Given the description of an element on the screen output the (x, y) to click on. 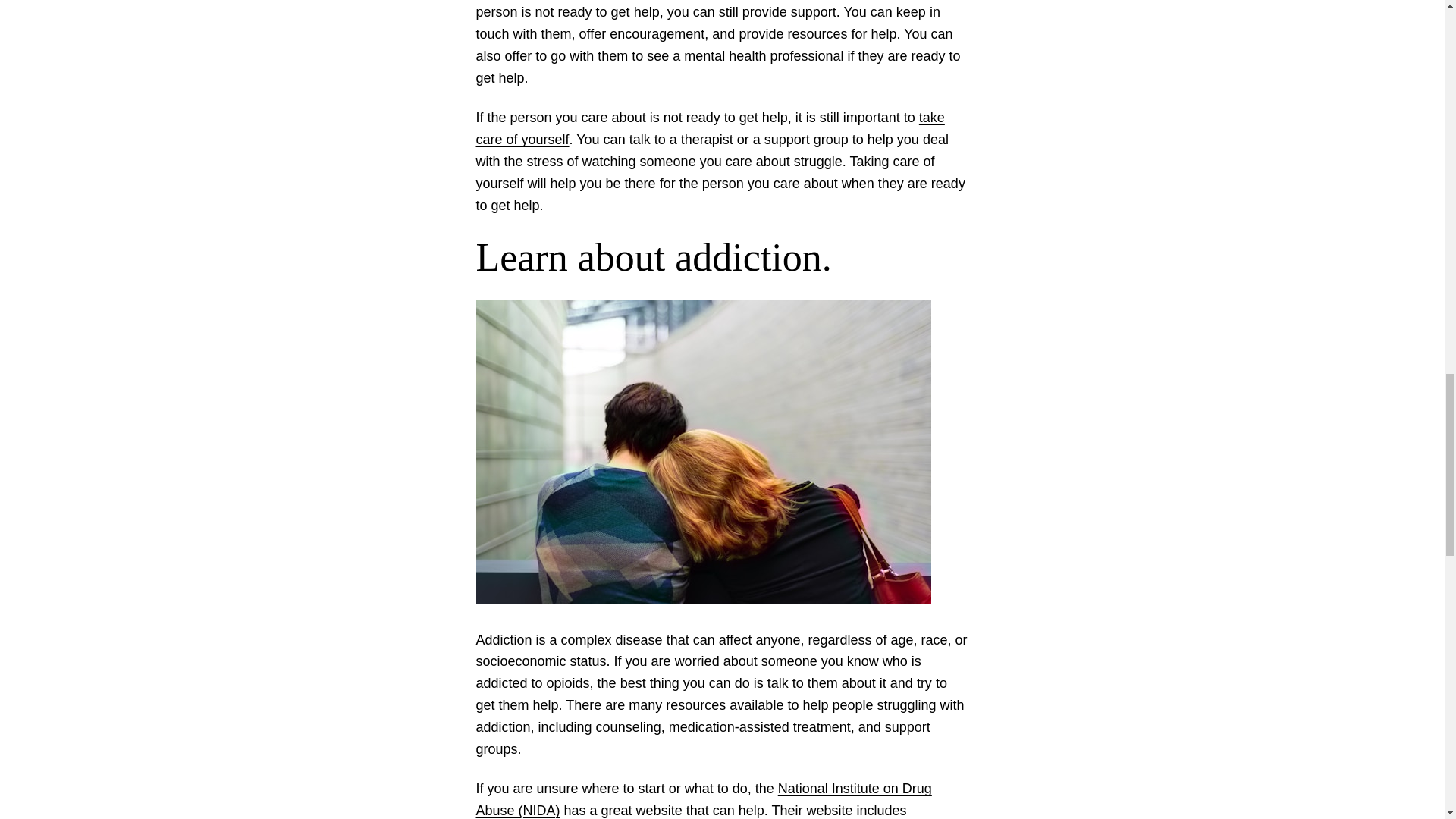
take care of yourself (710, 128)
